Given the description of an element on the screen output the (x, y) to click on. 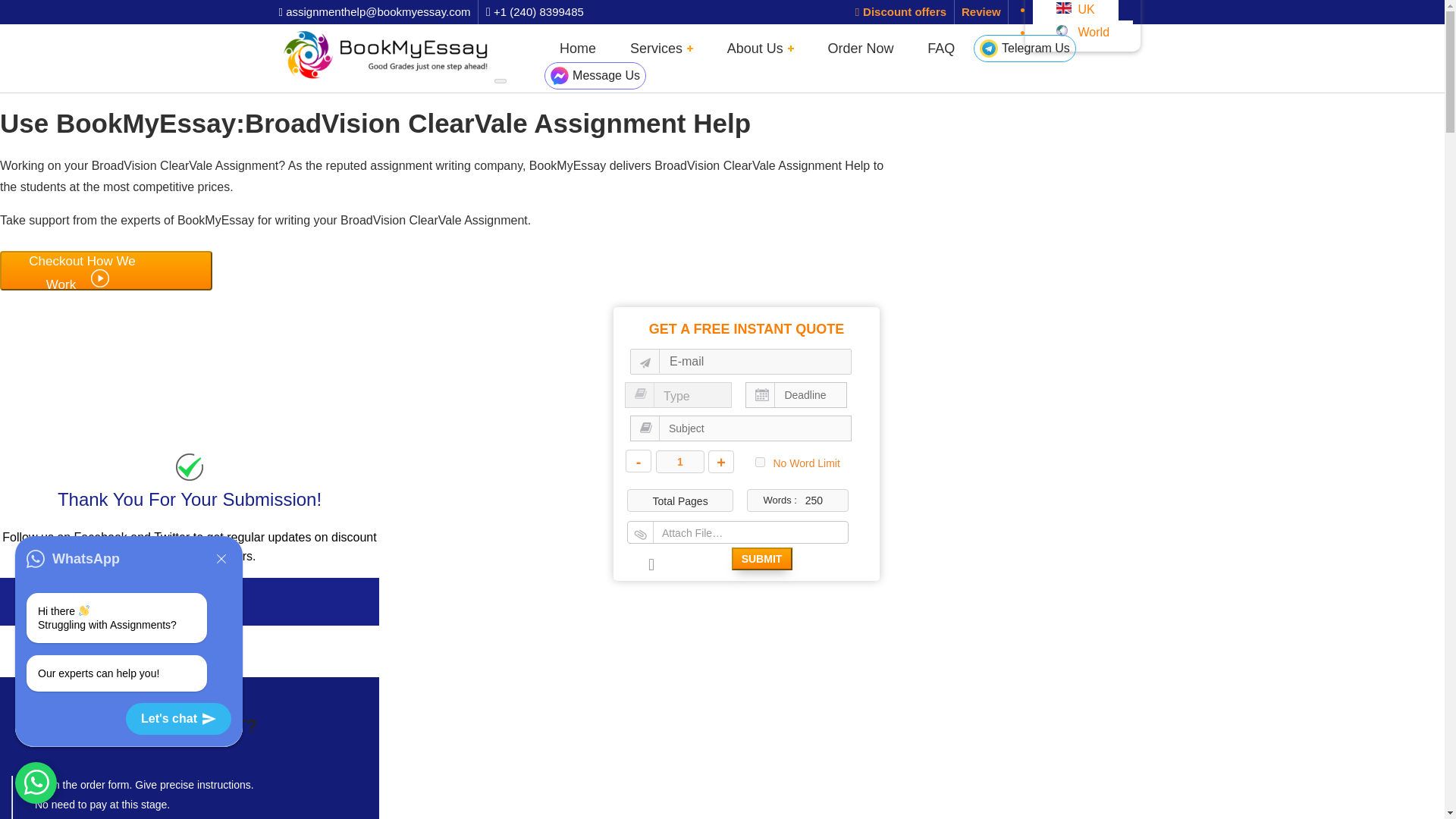
  World (1082, 31)
on (760, 461)
Discount offers (901, 11)
Home (577, 47)
Toggle navigation (500, 80)
Review (980, 11)
250 (797, 499)
Services (660, 47)
1 (680, 461)
  UK (1075, 10)
